Given the description of an element on the screen output the (x, y) to click on. 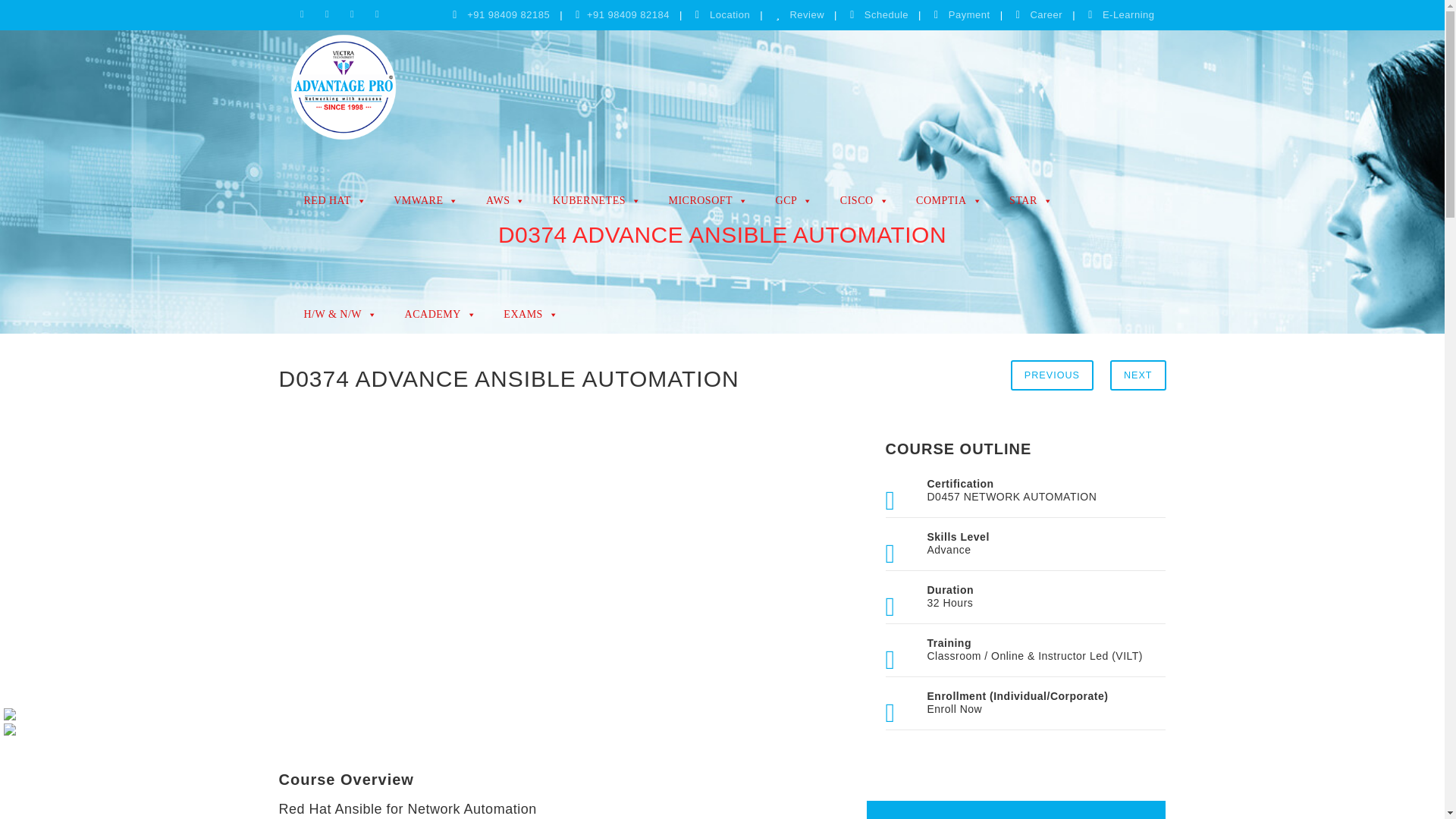
Payment (967, 14)
Schedule (884, 14)
Location (729, 14)
E-Learning (1126, 14)
Advantage Pro (342, 87)
Career (1044, 14)
Review (805, 14)
